Given the description of an element on the screen output the (x, y) to click on. 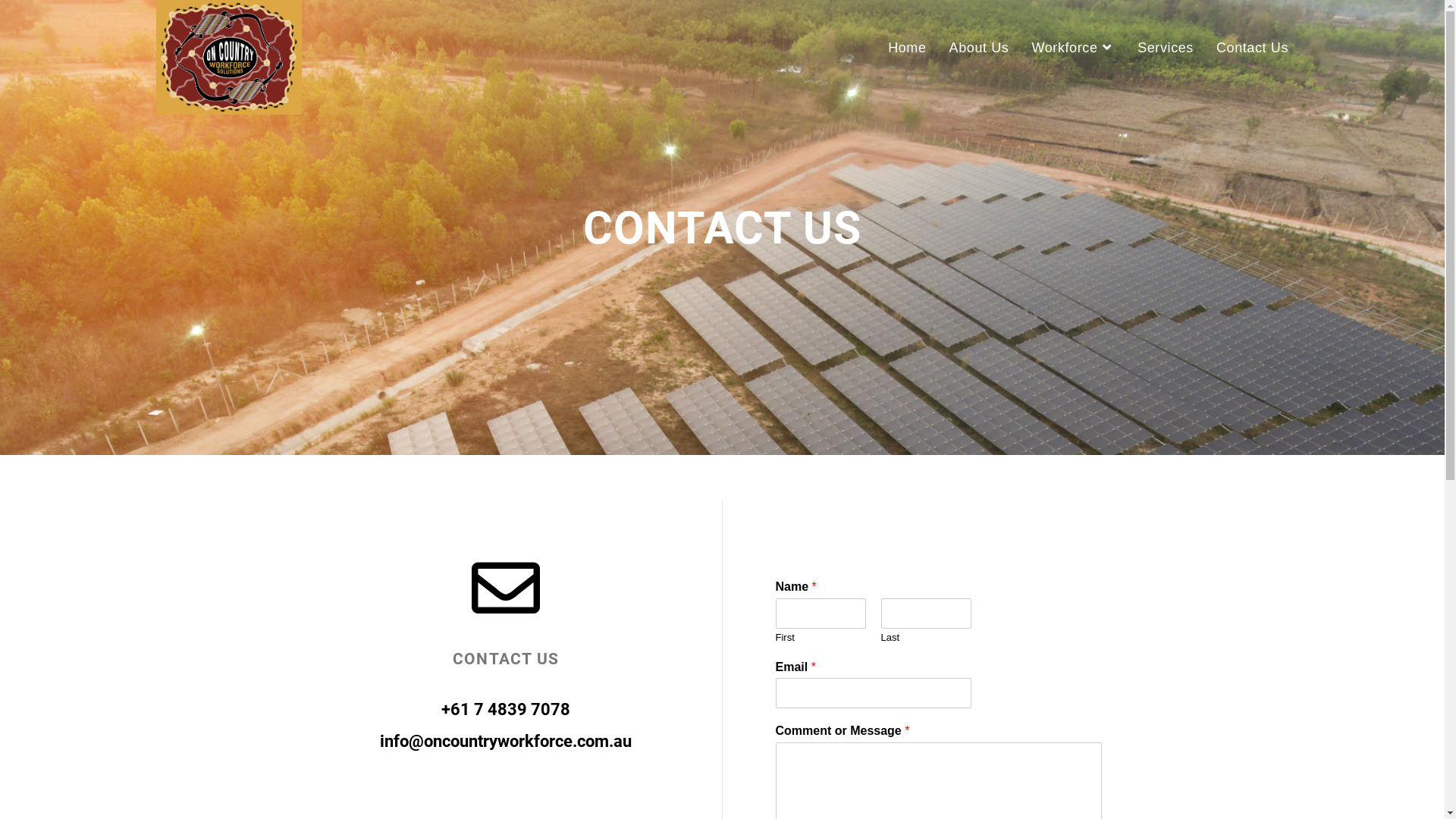
About Us Element type: text (979, 47)
Services Element type: text (1165, 47)
info@oncountryworkforce.com.au Element type: text (505, 740)
Home Element type: text (906, 47)
Contact Us Element type: text (1251, 47)
Workforce Element type: text (1072, 47)
